Given the description of an element on the screen output the (x, y) to click on. 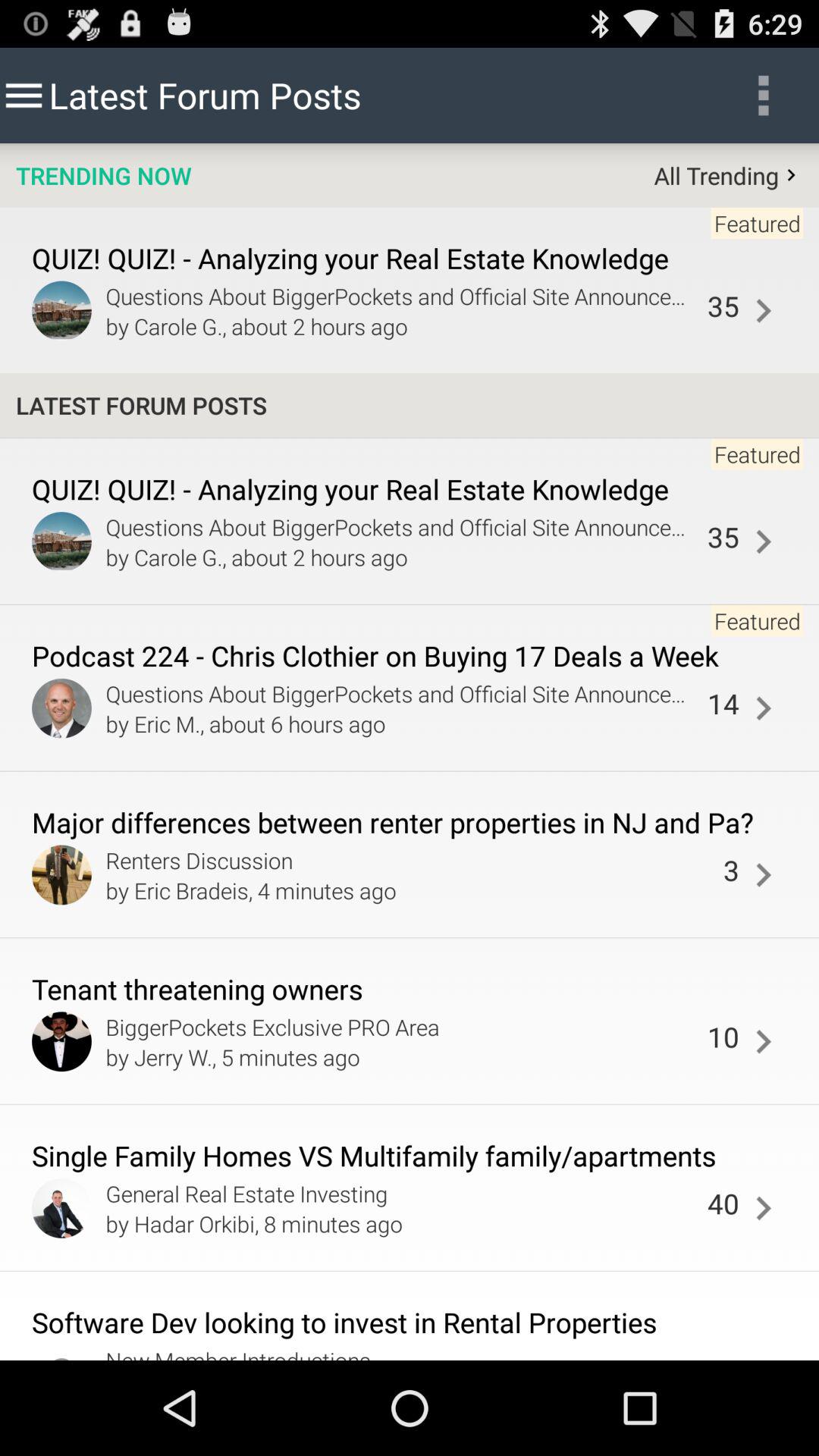
tap the app to the left of 10 (402, 1026)
